Given the description of an element on the screen output the (x, y) to click on. 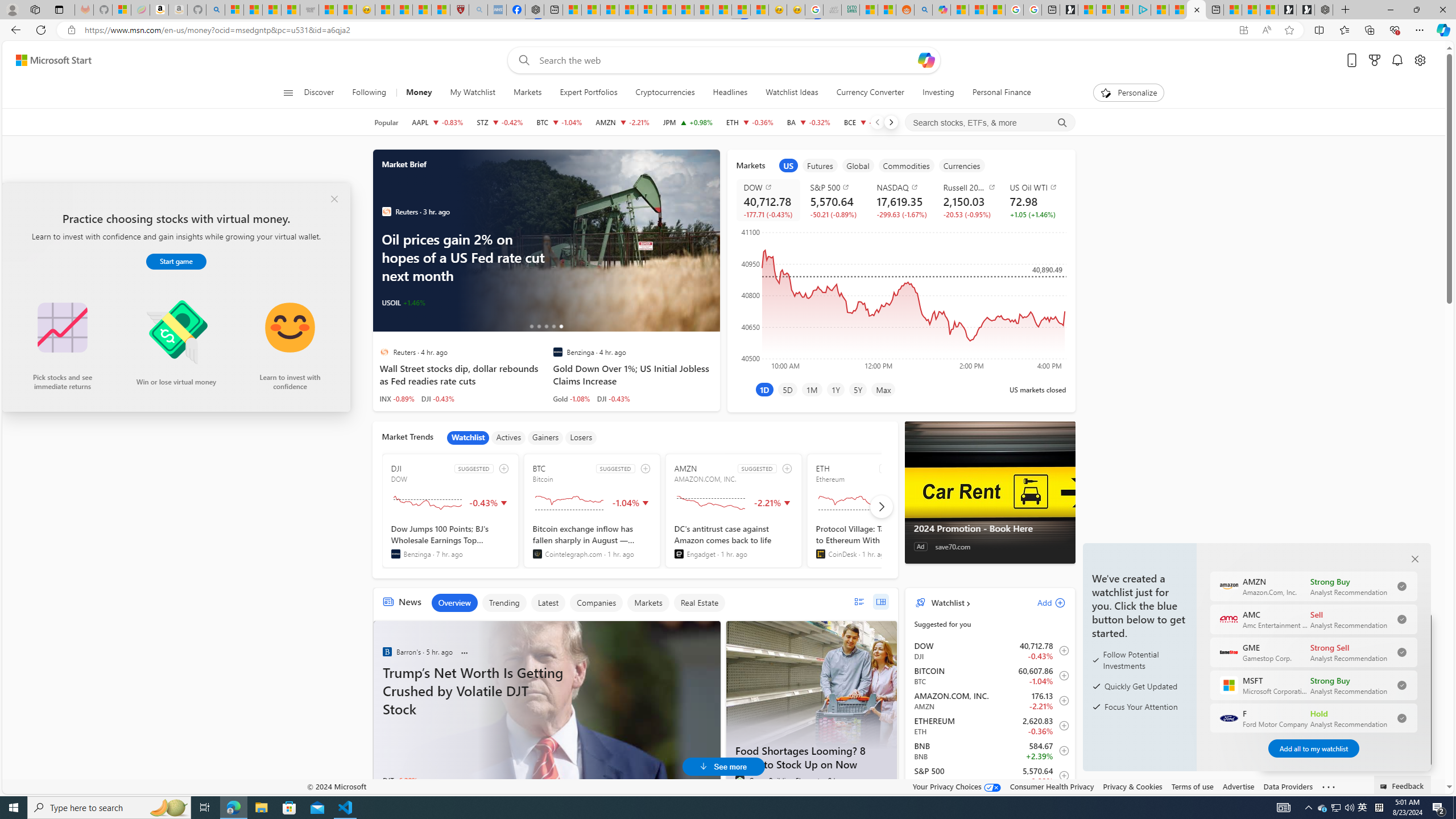
S&P 500 (836, 187)
Russell 2000 (969, 187)
Benzinga (386, 651)
Personal Profile (12, 9)
DJI SUGGESTED DOW (449, 510)
Robert H. Shmerling, MD - Harvard Health (459, 9)
Expert Portfolios (588, 92)
Read aloud this page (Ctrl+Shift+U) (1266, 29)
Settings and more (Alt+F) (1419, 29)
Ad (919, 546)
Privacy & Cookies (1131, 786)
5D (787, 389)
